Given the description of an element on the screen output the (x, y) to click on. 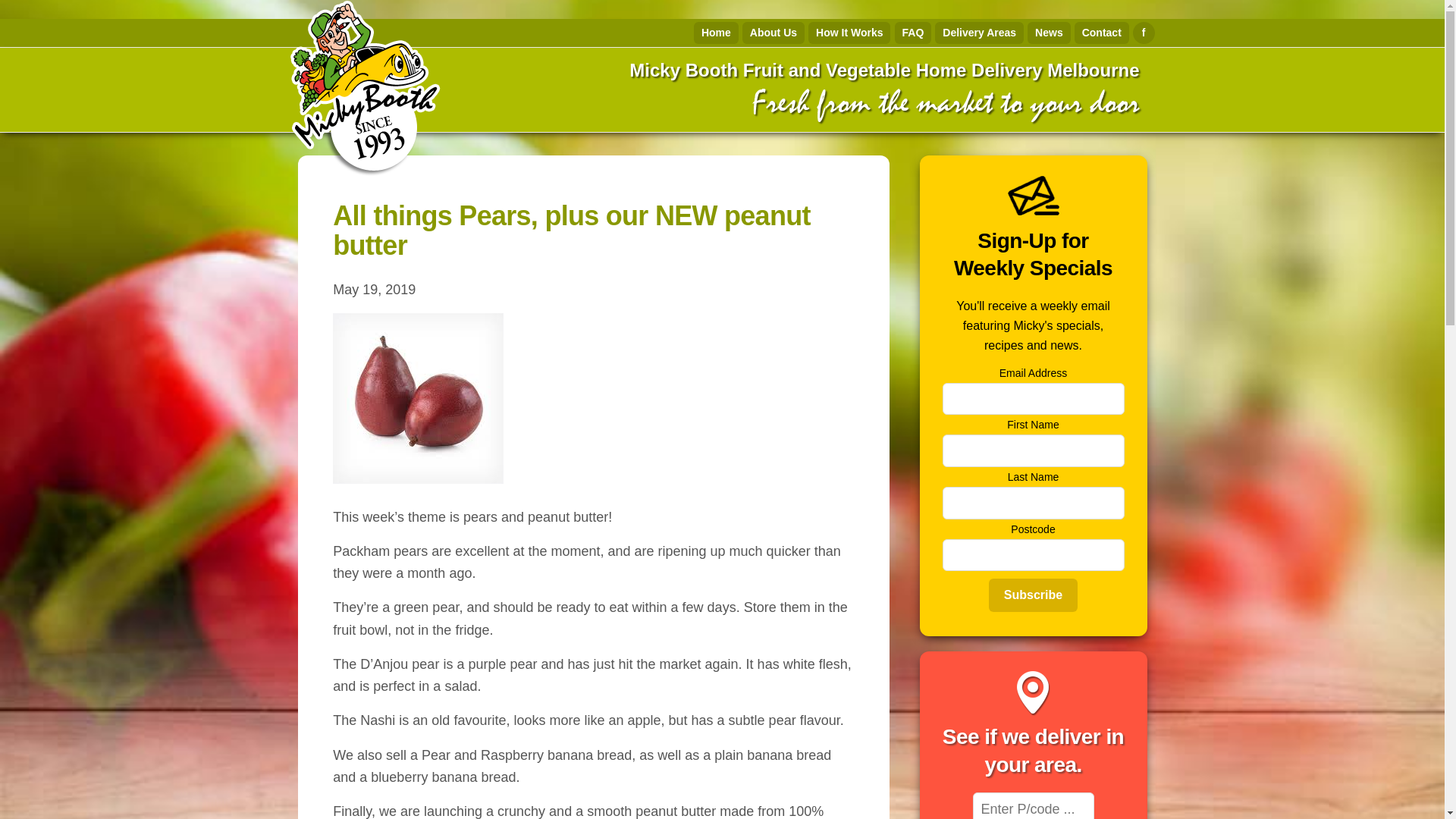
Micky Booth Fruit and Vegetable Home Delivery Melbourne Element type: text (884, 69)
How It Works Element type: text (849, 32)
Contact Element type: text (1101, 32)
FAQ Element type: text (912, 32)
f Element type: text (1143, 32)
Subscribe Element type: text (1032, 594)
About Us Element type: text (773, 32)
News Element type: text (1048, 32)
Delivery Areas Element type: text (979, 32)
Home Element type: text (715, 32)
